Given the description of an element on the screen output the (x, y) to click on. 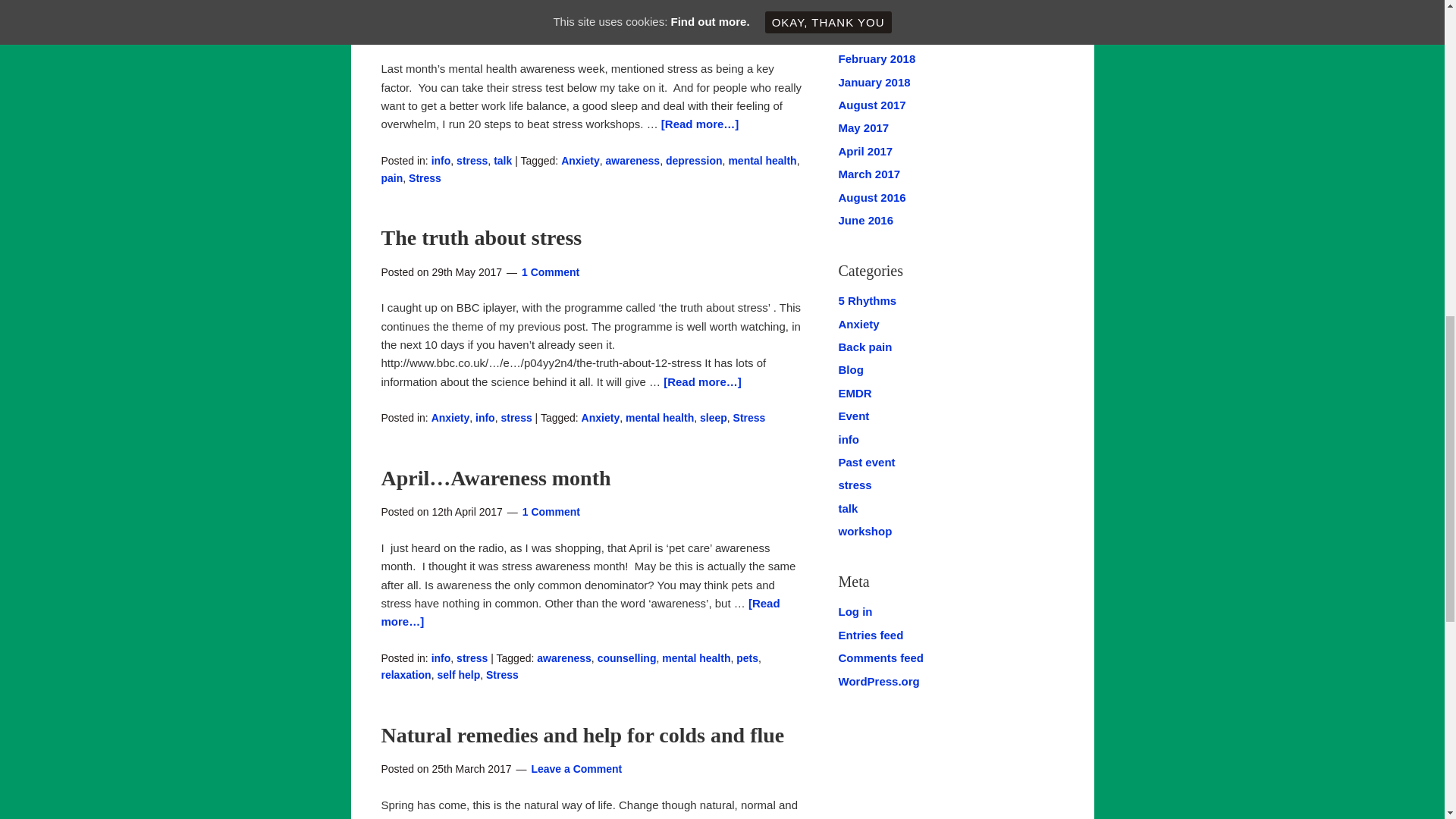
Saturday, March 25, 2017, 12:20 pm (470, 768)
Wednesday, April 12, 2017, 10:10 pm (466, 511)
Tuesday, June 12, 2018, 10:09 pm (467, 33)
Monday, May 29, 2017, 10:02 pm (466, 271)
